Given the description of an element on the screen output the (x, y) to click on. 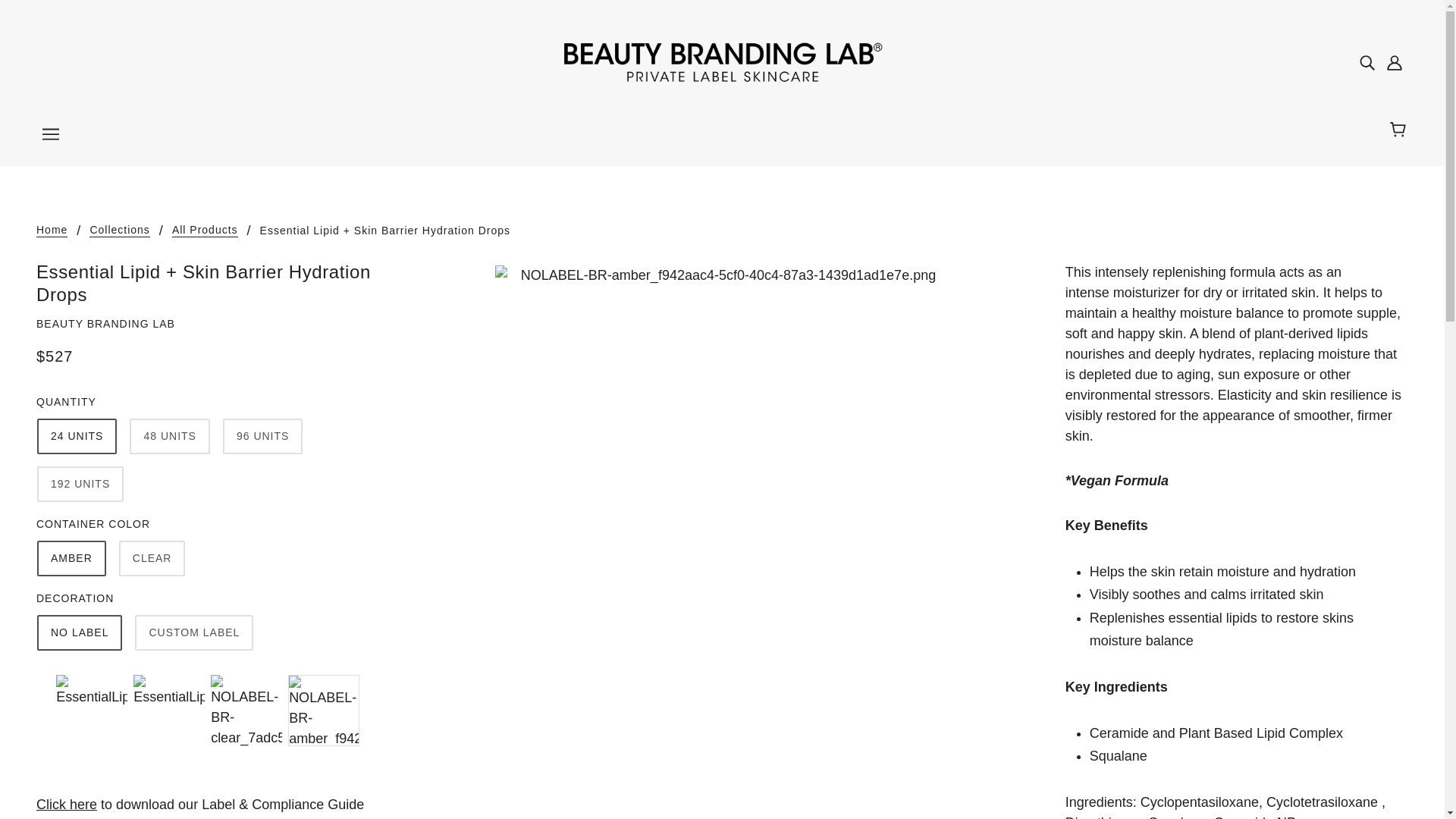
BEAUTY BRANDING LAB (105, 323)
Home (51, 230)
All Products (204, 230)
Beauty Branding Lab (721, 61)
Collections (118, 230)
